Given the description of an element on the screen output the (x, y) to click on. 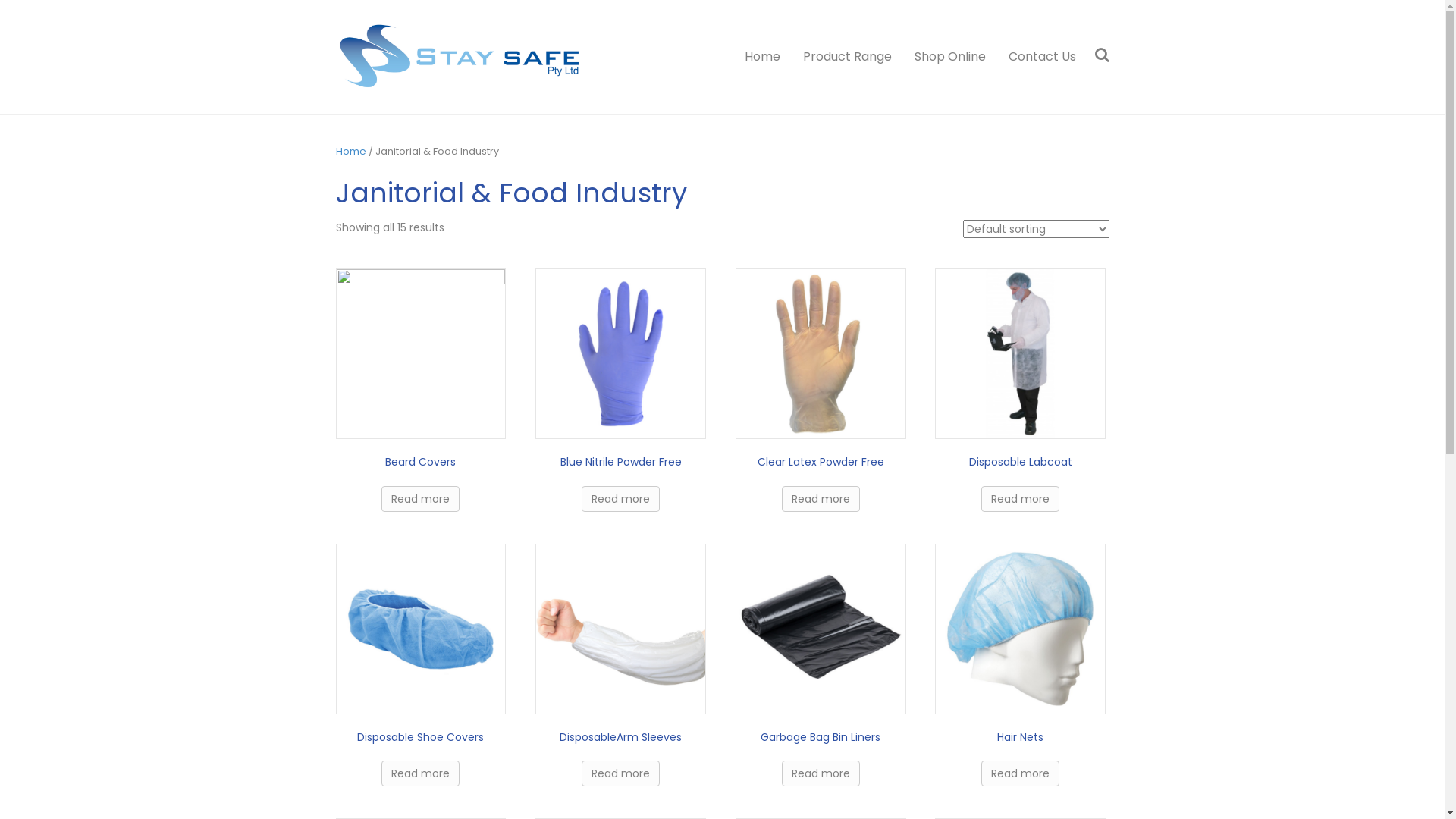
Read more Element type: text (1020, 498)
Blue Nitrile Powder Free Element type: text (620, 387)
Read more Element type: text (420, 773)
Read more Element type: text (420, 498)
Disposable Shoe Covers Element type: text (420, 662)
Garbage Bag Bin Liners Element type: text (820, 662)
Home Element type: text (761, 56)
Contact Us Element type: text (1035, 56)
Read more Element type: text (820, 498)
Beard Covers Element type: text (420, 387)
Hair Nets Element type: text (1020, 662)
Read more Element type: text (620, 773)
DisposableArm Sleeves Element type: text (620, 662)
Read more Element type: text (1020, 773)
Product Range Element type: text (847, 56)
Disposable Labcoat Element type: text (1020, 387)
Home Element type: text (350, 151)
Clear Latex Powder Free Element type: text (820, 387)
Shop Online Element type: text (949, 56)
Read more Element type: text (620, 498)
Read more Element type: text (820, 773)
